Given the description of an element on the screen output the (x, y) to click on. 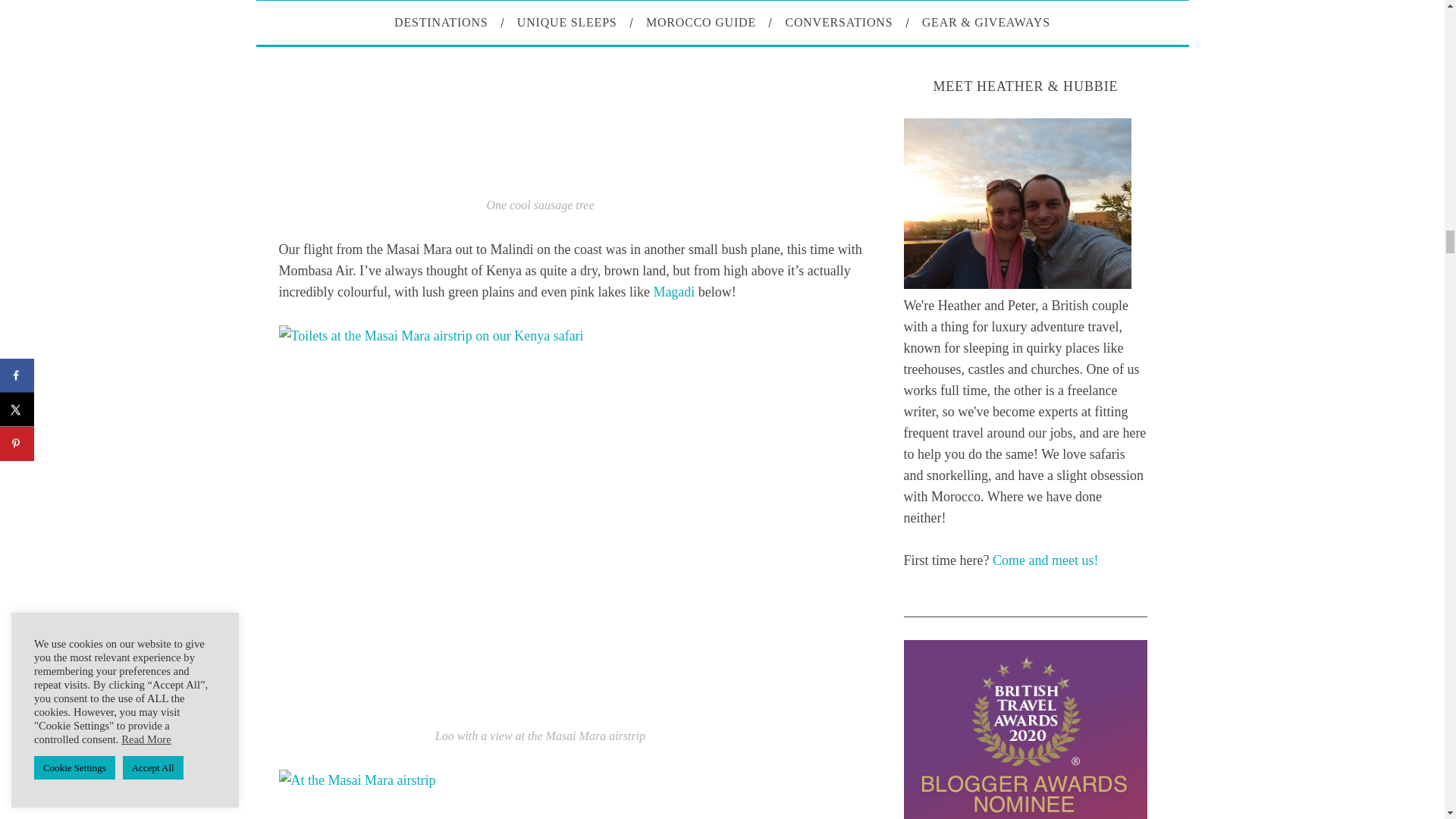
Sausage tree in the Masai Mara on a Kenya safari (540, 93)
